Given the description of an element on the screen output the (x, y) to click on. 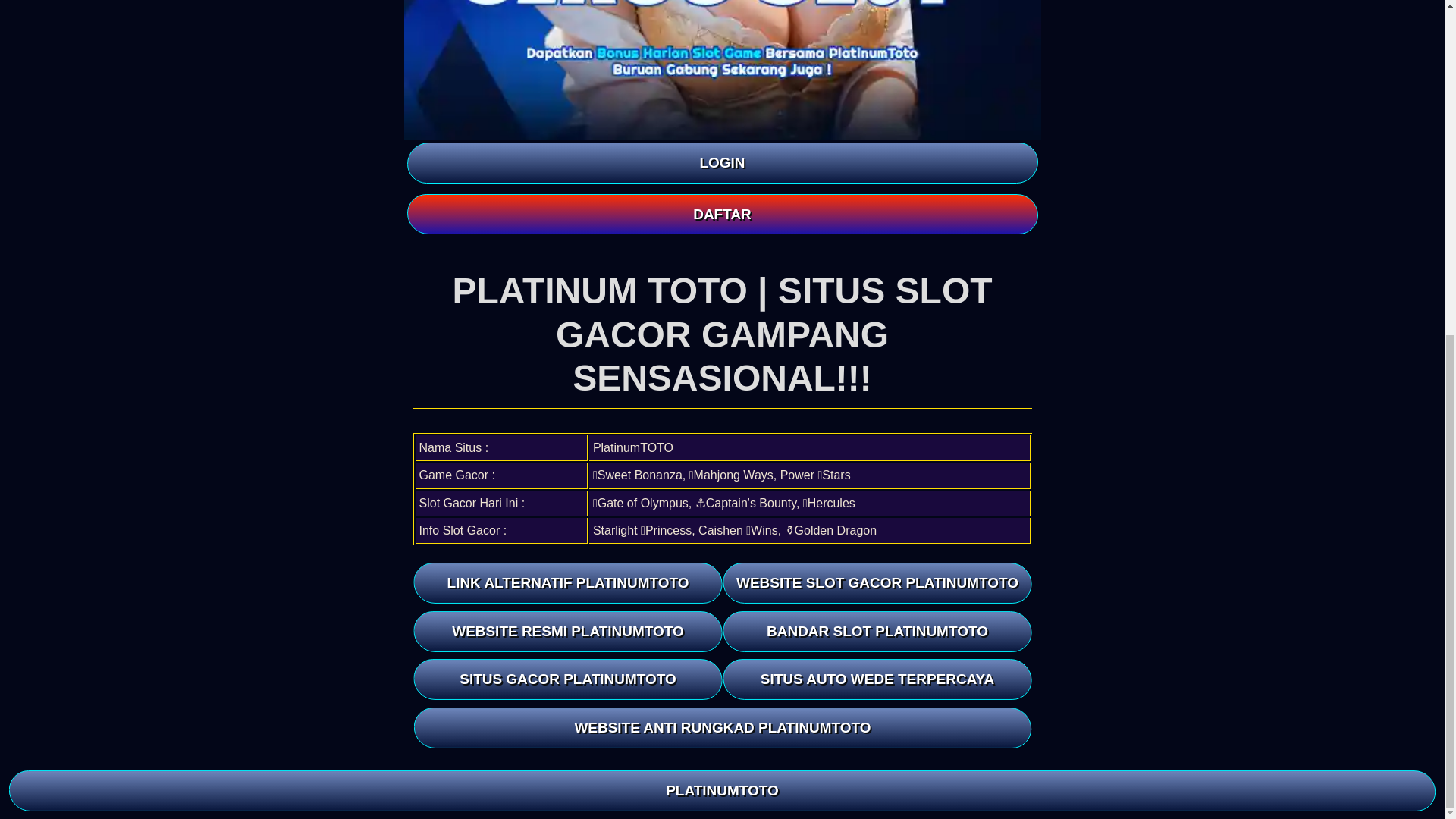
SITUS AUTO WEDE TERPERCAYA (877, 679)
LINK ALTERNATIF PLATINUMTOTO (567, 582)
WEBSITE SLOT GACOR PLATINUMTOTO (876, 582)
SITUS GACOR PLATINUMTOTO (567, 679)
WEBSITE ANTI RUNGKAD PLATINUMTOTO (723, 727)
BANDAR SLOT PLATINUMTOTO (877, 630)
WEBSITE RESMI PLATINUMTOTO (567, 630)
DAFTAR (721, 214)
LOGIN (721, 162)
